Given the description of an element on the screen output the (x, y) to click on. 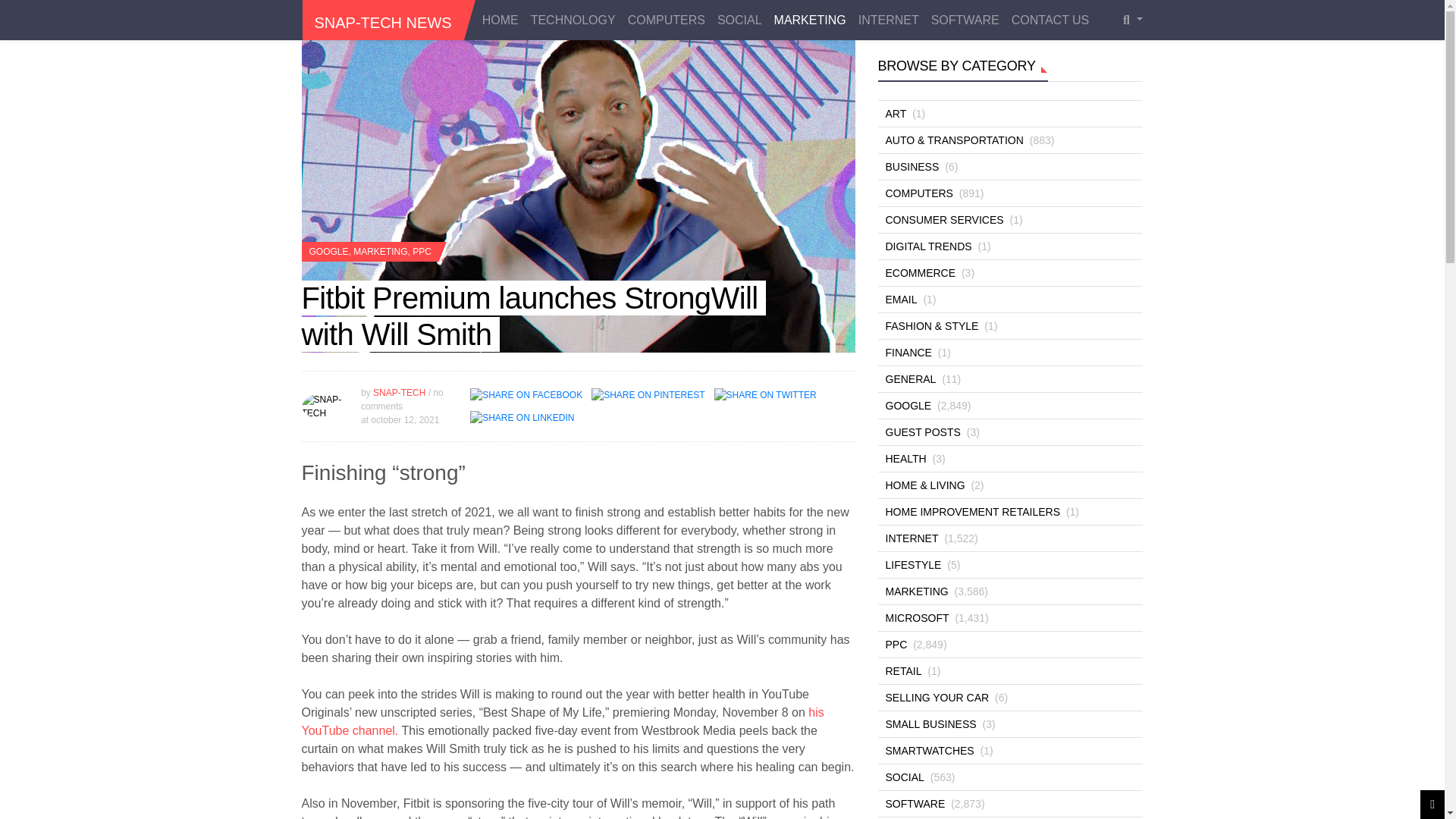
TECHNOLOGY (572, 20)
twitter (765, 395)
MARKETING (809, 20)
Computers (666, 20)
Posts by Snap-Tech (398, 392)
CONTACT US (1051, 20)
HOME (500, 20)
Software (965, 20)
SNAP-TECH NEWS (382, 22)
DIGITAL TRENDS (926, 246)
CONSUMER SERVICES (942, 219)
ART (893, 113)
Internet (887, 20)
COMPUTERS (916, 193)
pinterest (647, 395)
